Given the description of an element on the screen output the (x, y) to click on. 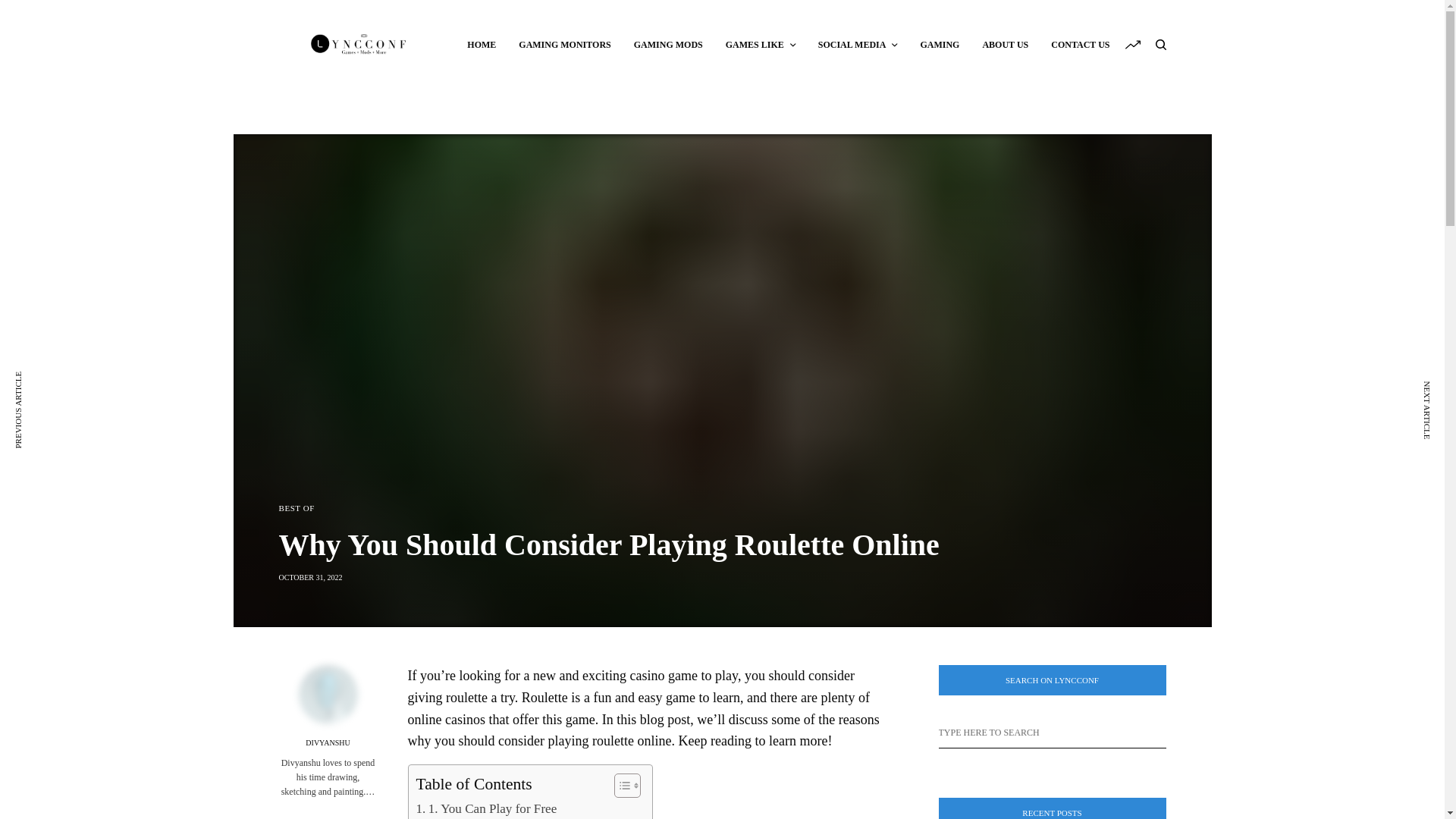
LyncConf (360, 44)
SOCIAL MEDIA (858, 44)
GAMING MONITORS (564, 44)
BEST OF (296, 508)
1. You Can Play for Free (485, 808)
1. You Can Play for Free (485, 808)
DIVYANSHU (328, 742)
